Given the description of an element on the screen output the (x, y) to click on. 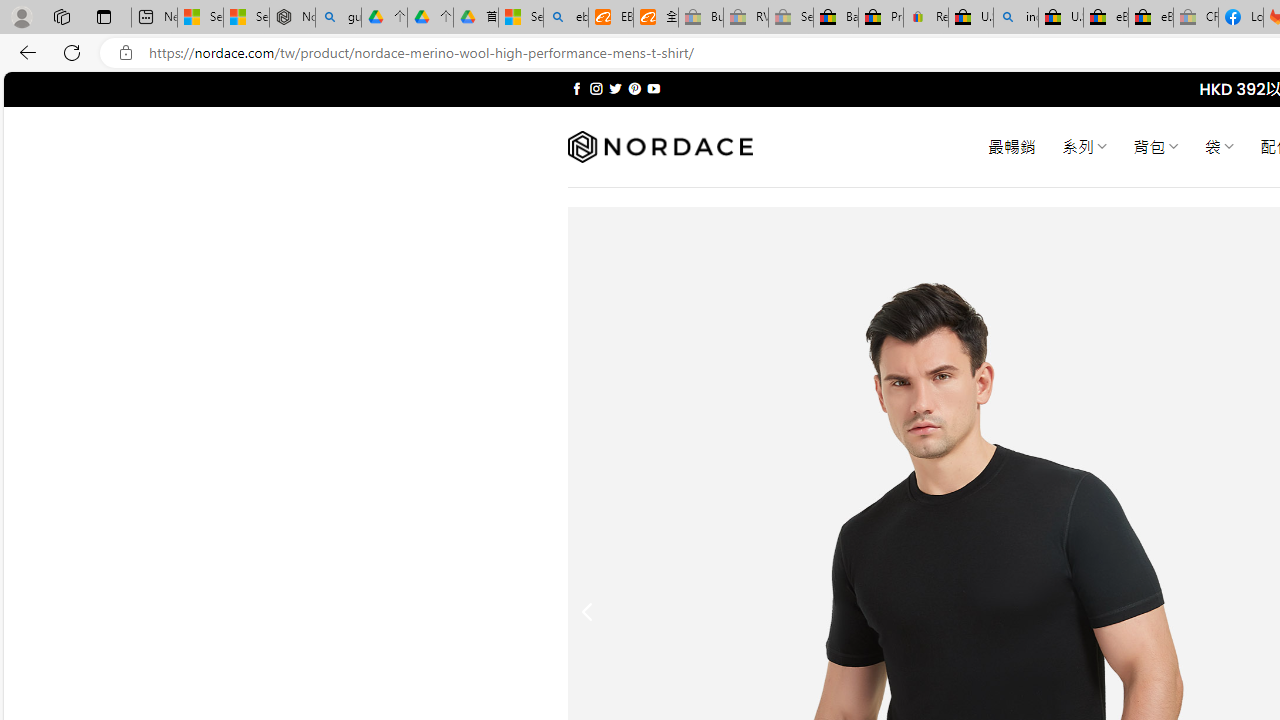
U.S. State Privacy Disclosures - eBay Inc. (1060, 17)
Buy Auto Parts & Accessories | eBay - Sleeping (700, 17)
Back (24, 52)
guge yunpan - Search (338, 17)
Follow on Instagram (596, 88)
Register: Create a personal eBay account (925, 17)
including - Search (1016, 17)
Follow on Twitter (615, 88)
Sell worldwide with eBay - Sleeping (790, 17)
